Given the description of an element on the screen output the (x, y) to click on. 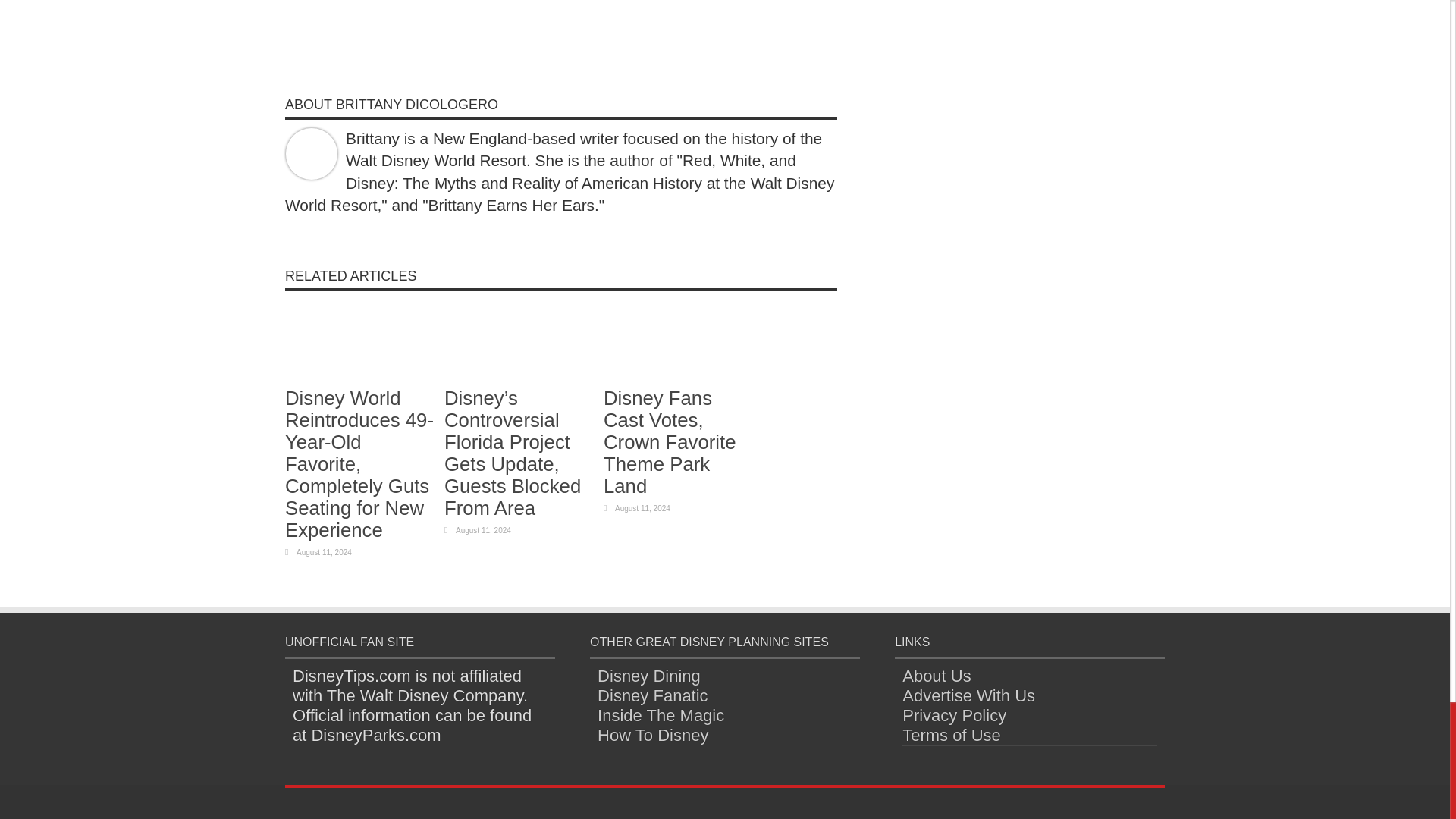
Disney Fanatic (651, 695)
Disney Dining (648, 675)
Disney Fans Cast Votes, Crown Favorite Theme Park Land (669, 441)
